Given the description of an element on the screen output the (x, y) to click on. 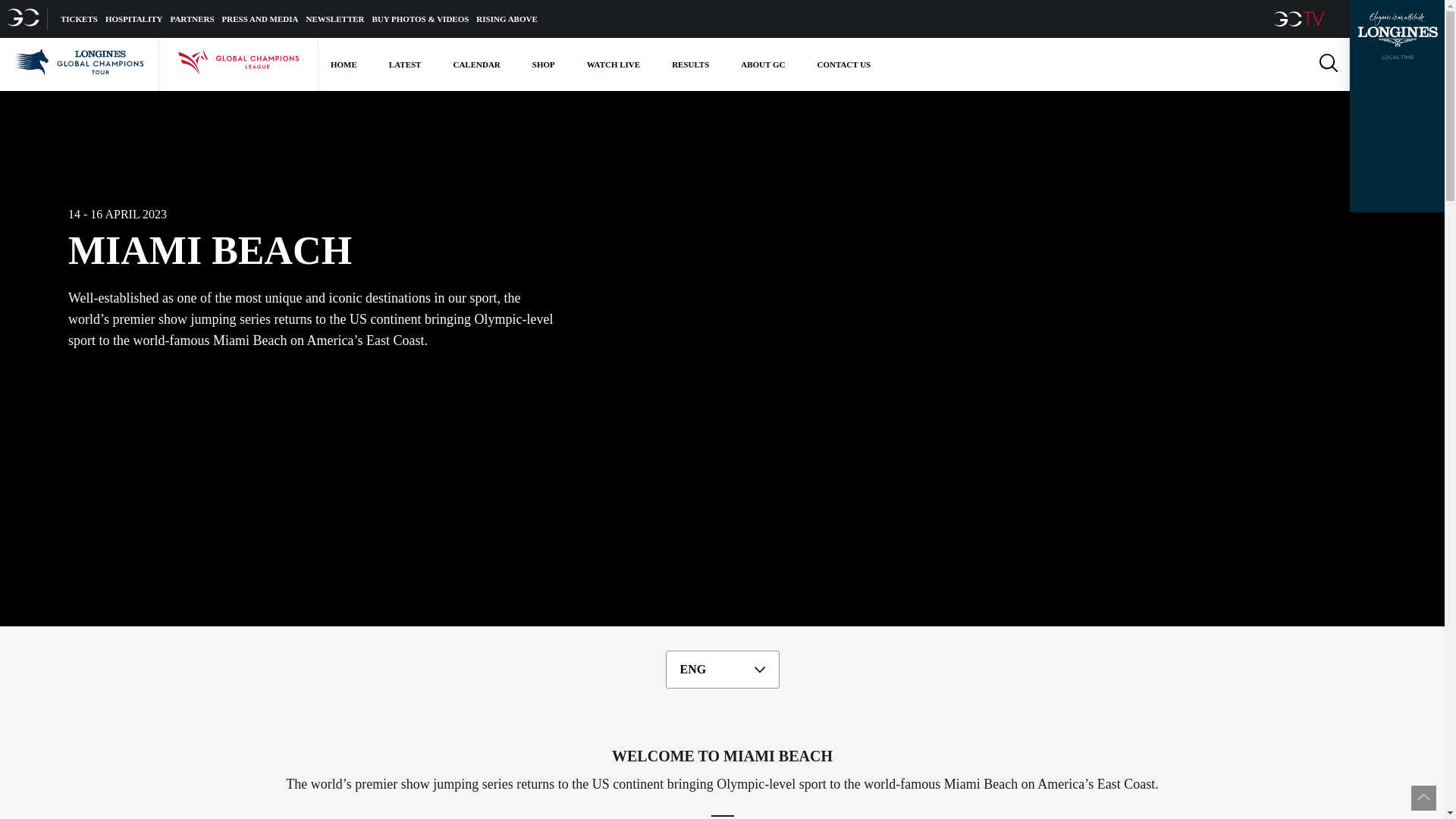
TICKETS (79, 18)
PRESS AND MEDIA (260, 18)
GCL (237, 63)
CONTACT US (843, 63)
RISING ABOVE (506, 18)
WATCH LIVE (613, 63)
GC (23, 18)
GCTV (1300, 18)
LGCT (79, 63)
NEWSLETTER (334, 18)
